Given the description of an element on the screen output the (x, y) to click on. 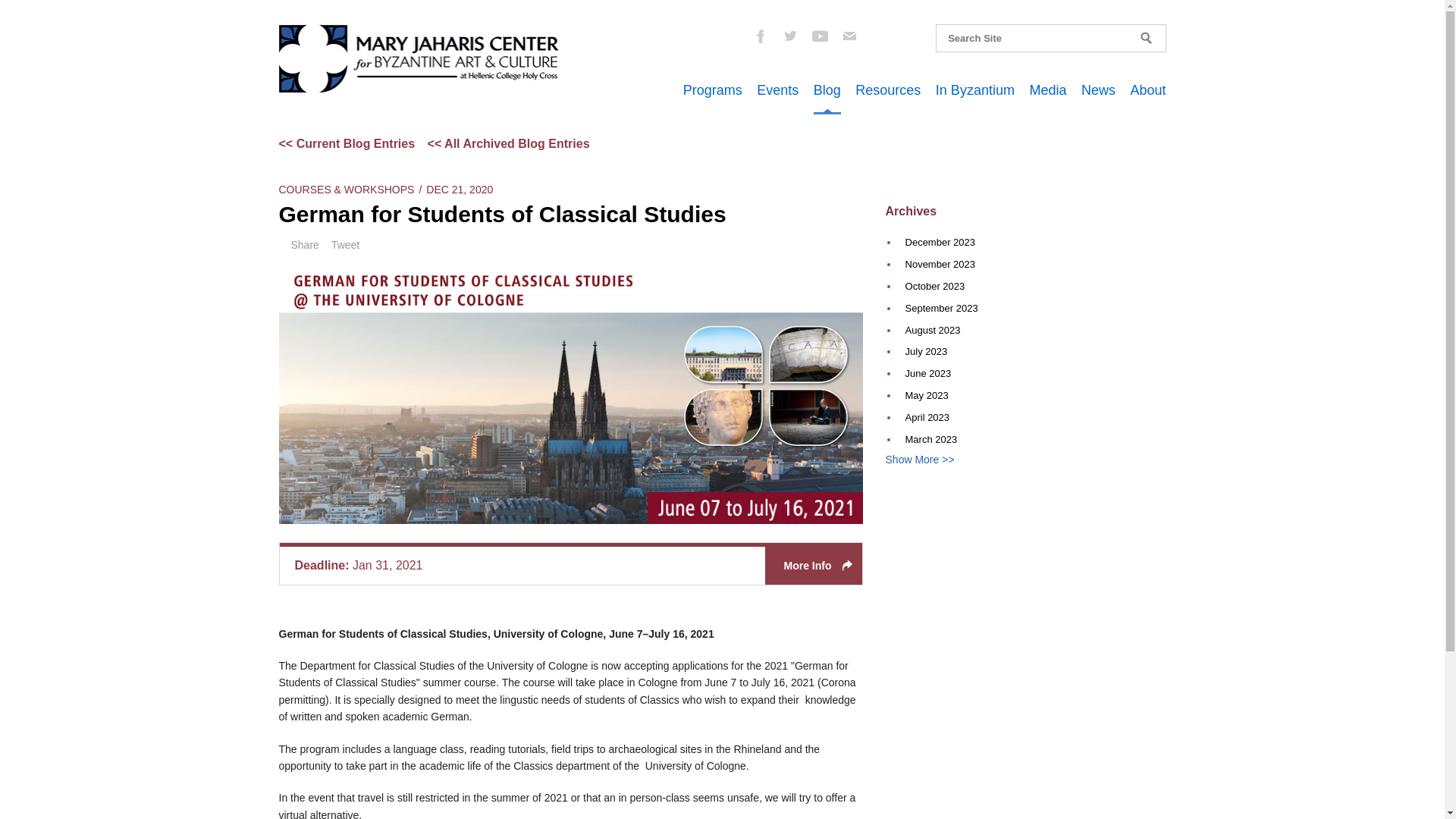
Resources (888, 90)
Submit (1146, 38)
Twitter (789, 35)
Programs (712, 90)
Mail (848, 35)
Events (777, 90)
Submit (1146, 38)
Blog (827, 90)
YouTube (819, 35)
Facebook (759, 35)
